Given the description of an element on the screen output the (x, y) to click on. 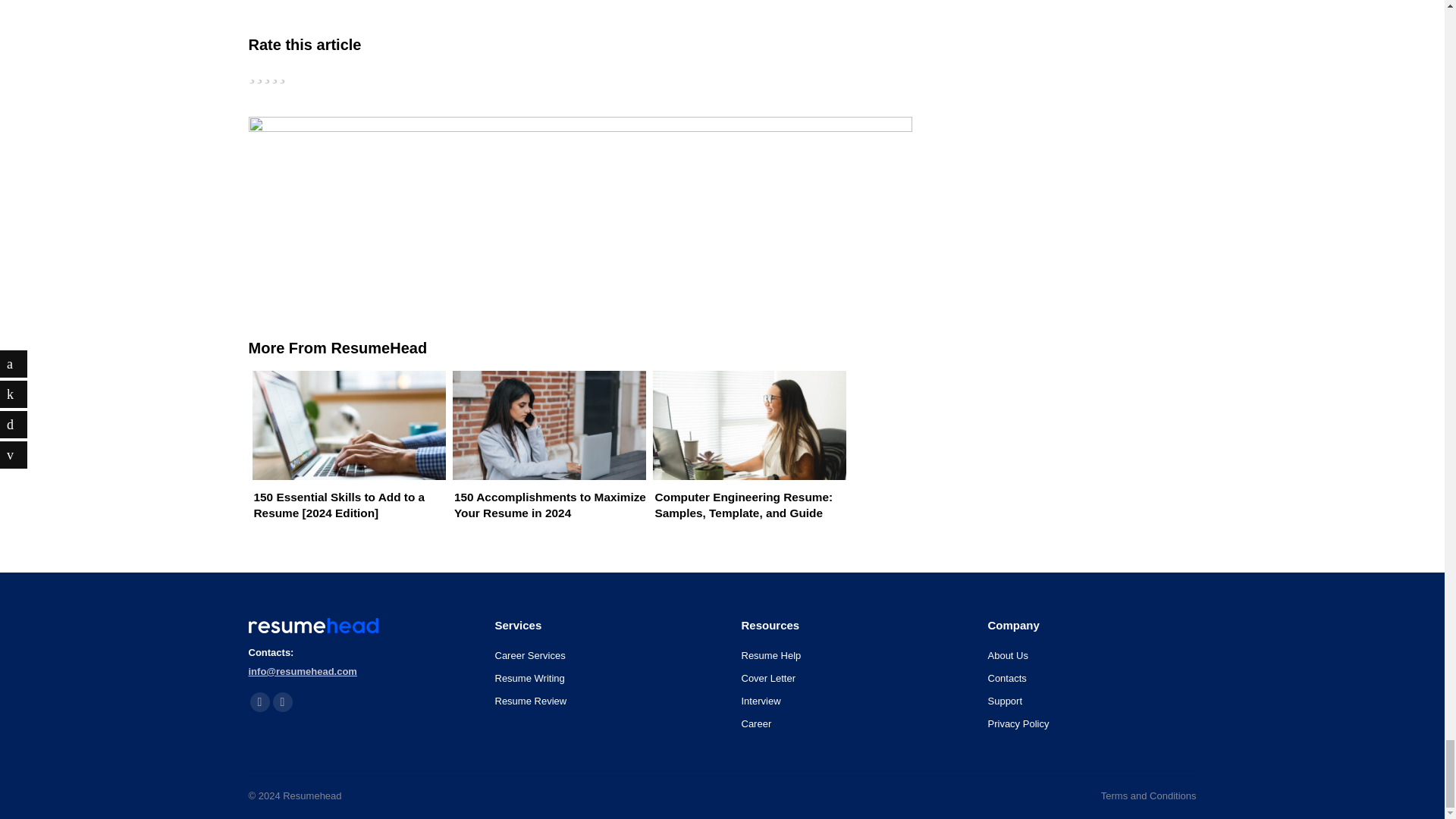
Linkedin page opens in new window (259, 701)
Computer Engineering Resume: Samples, Template, and Guide (746, 461)
Computer Engineering Resume: Samples, Template, and Guide (746, 461)
Mail page opens in new window (282, 701)
150 Accomplishments to Maximize Your Resume in 2024 (545, 461)
150 Accomplishments to Maximize Your Resume in 2024 (545, 461)
